Given the description of an element on the screen output the (x, y) to click on. 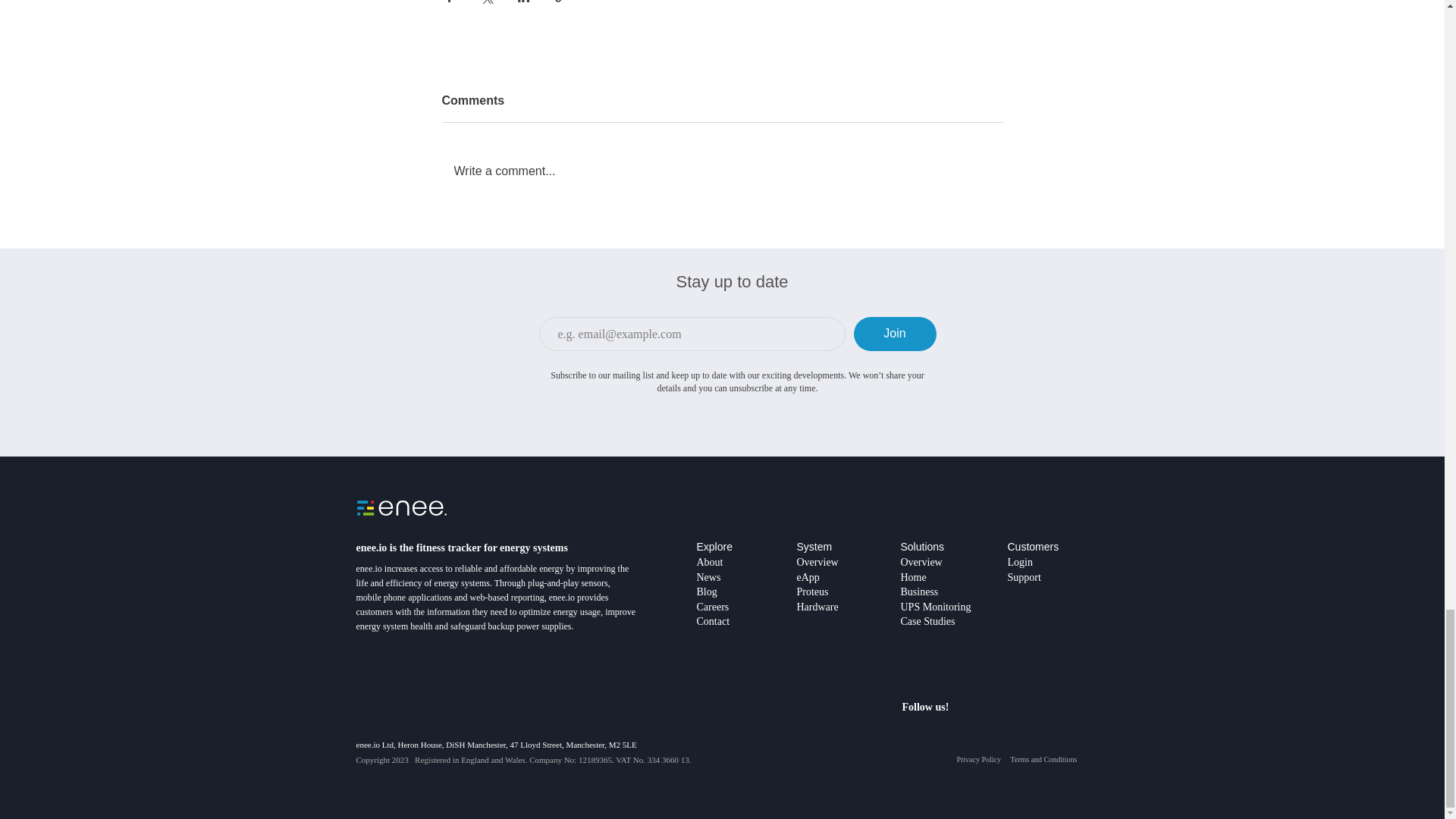
About (708, 562)
Join (894, 333)
Careers (712, 614)
UPS Monitoring (936, 606)
Hardware (817, 606)
Business (920, 591)
Proteus (812, 591)
eApp (807, 576)
Overview (921, 562)
Home (913, 576)
Blog (705, 591)
Case Studies (928, 621)
Contact (712, 628)
News (707, 576)
Write a comment... (722, 170)
